Given the description of an element on the screen output the (x, y) to click on. 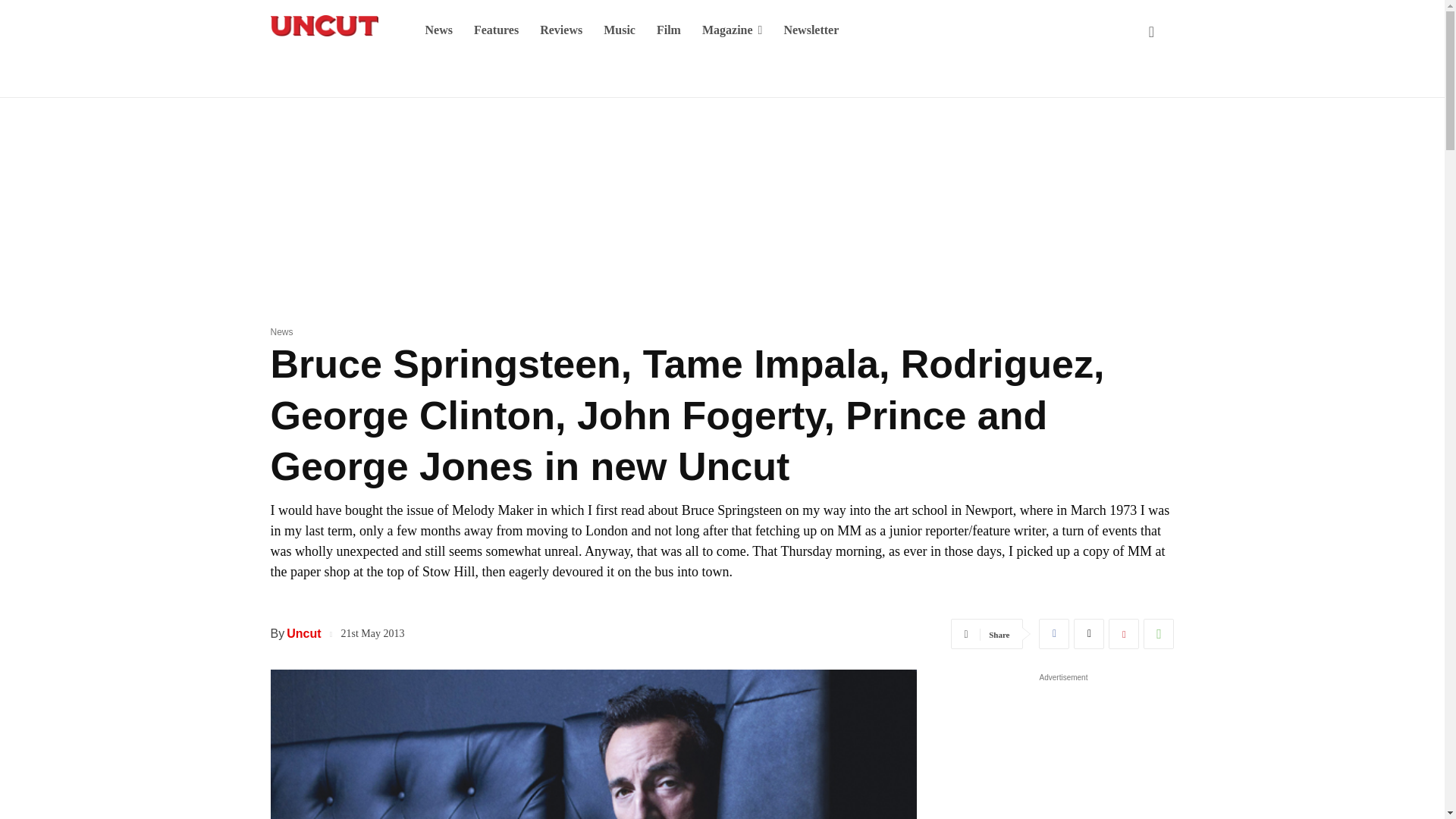
WhatsApp (1157, 634)
Facebook (1053, 634)
Features (496, 30)
Twitter (1088, 634)
Uncut Logo (323, 25)
Newsletter (810, 30)
Reviews (560, 30)
Pinterest (1123, 634)
Magazine (732, 30)
View all posts in News (280, 331)
